Given the description of an element on the screen output the (x, y) to click on. 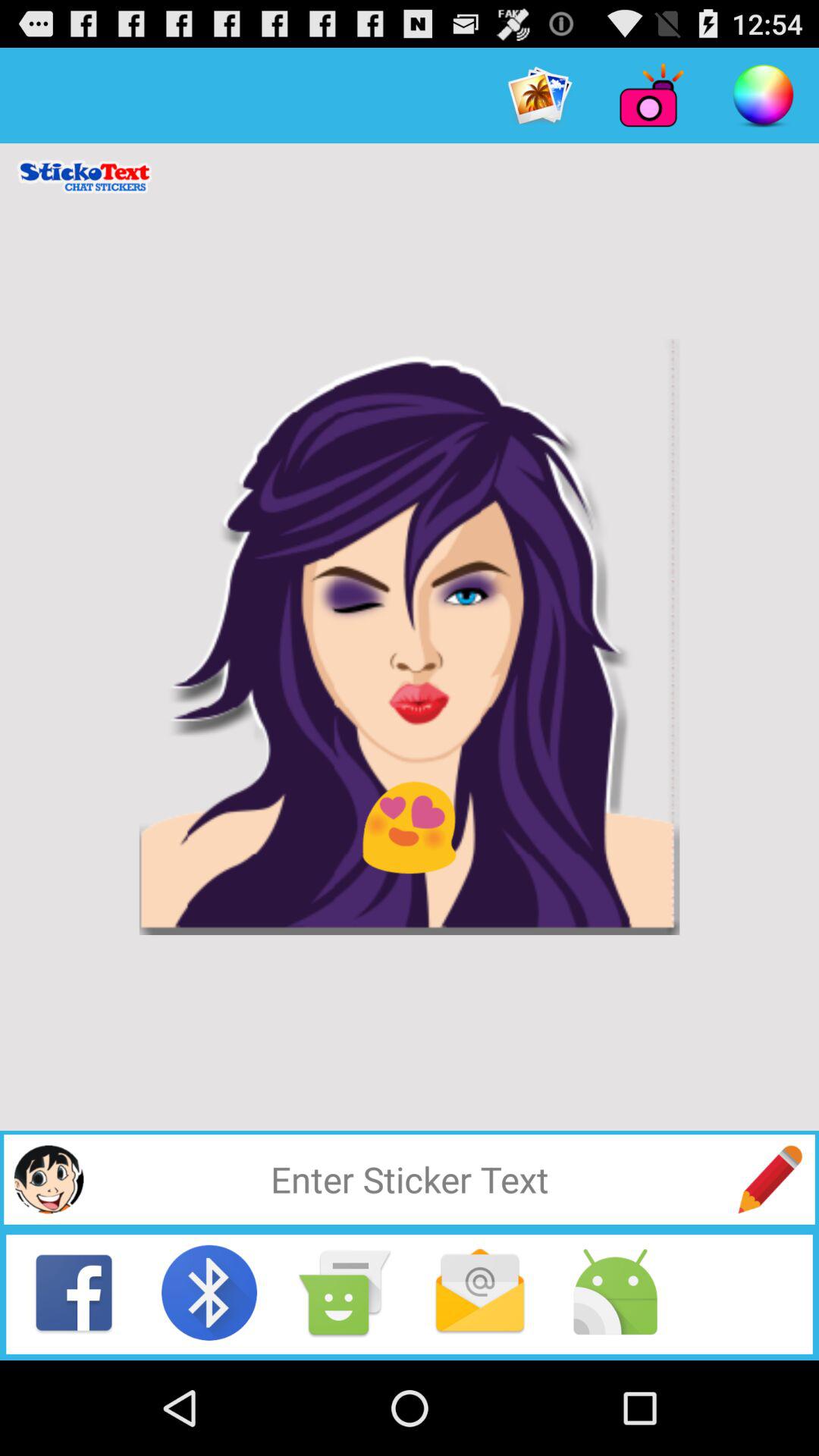
go to stickers (48, 1179)
